Given the description of an element on the screen output the (x, y) to click on. 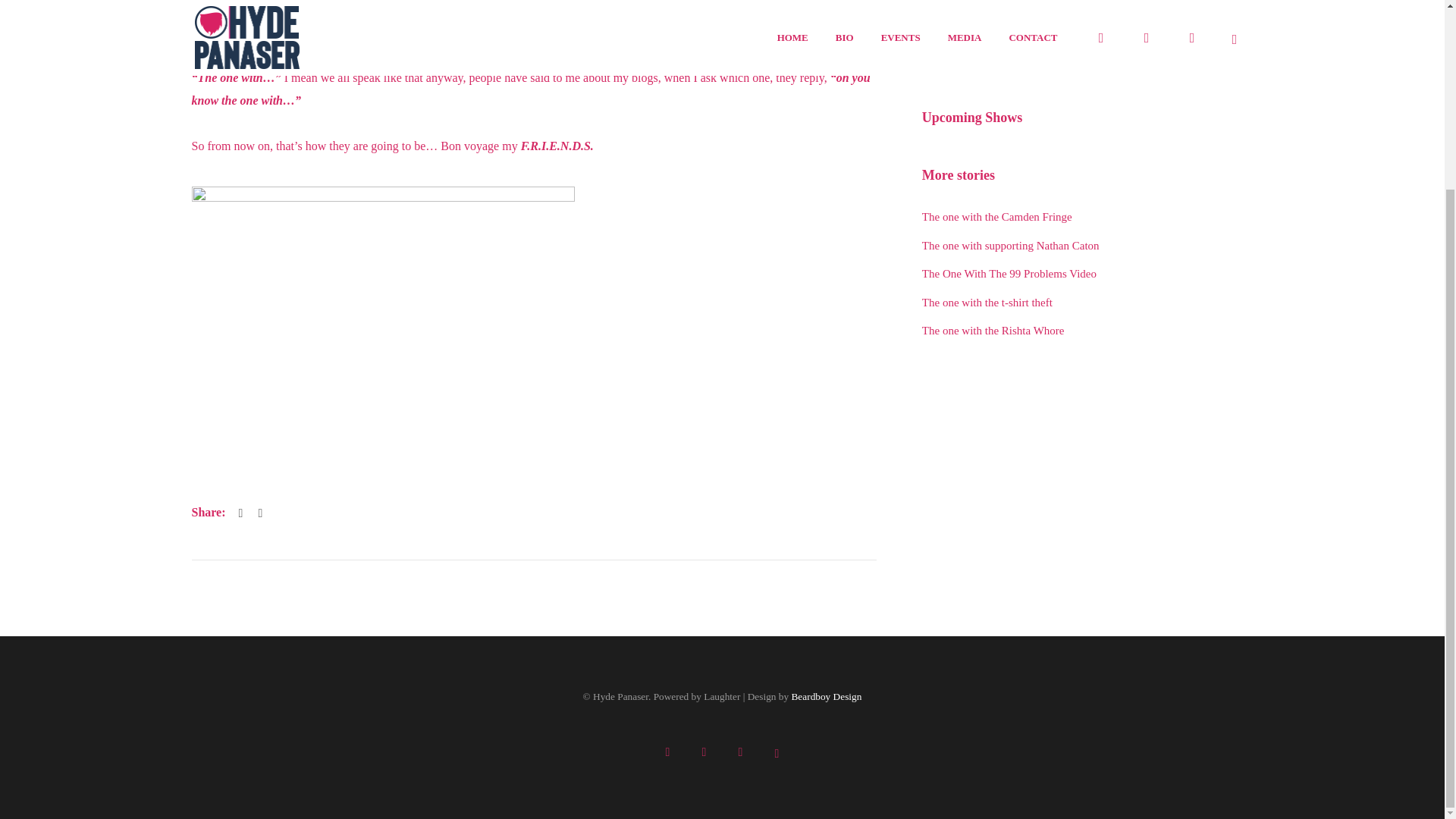
facebook (667, 752)
Friends Image (381, 319)
twitter (703, 752)
